Given the description of an element on the screen output the (x, y) to click on. 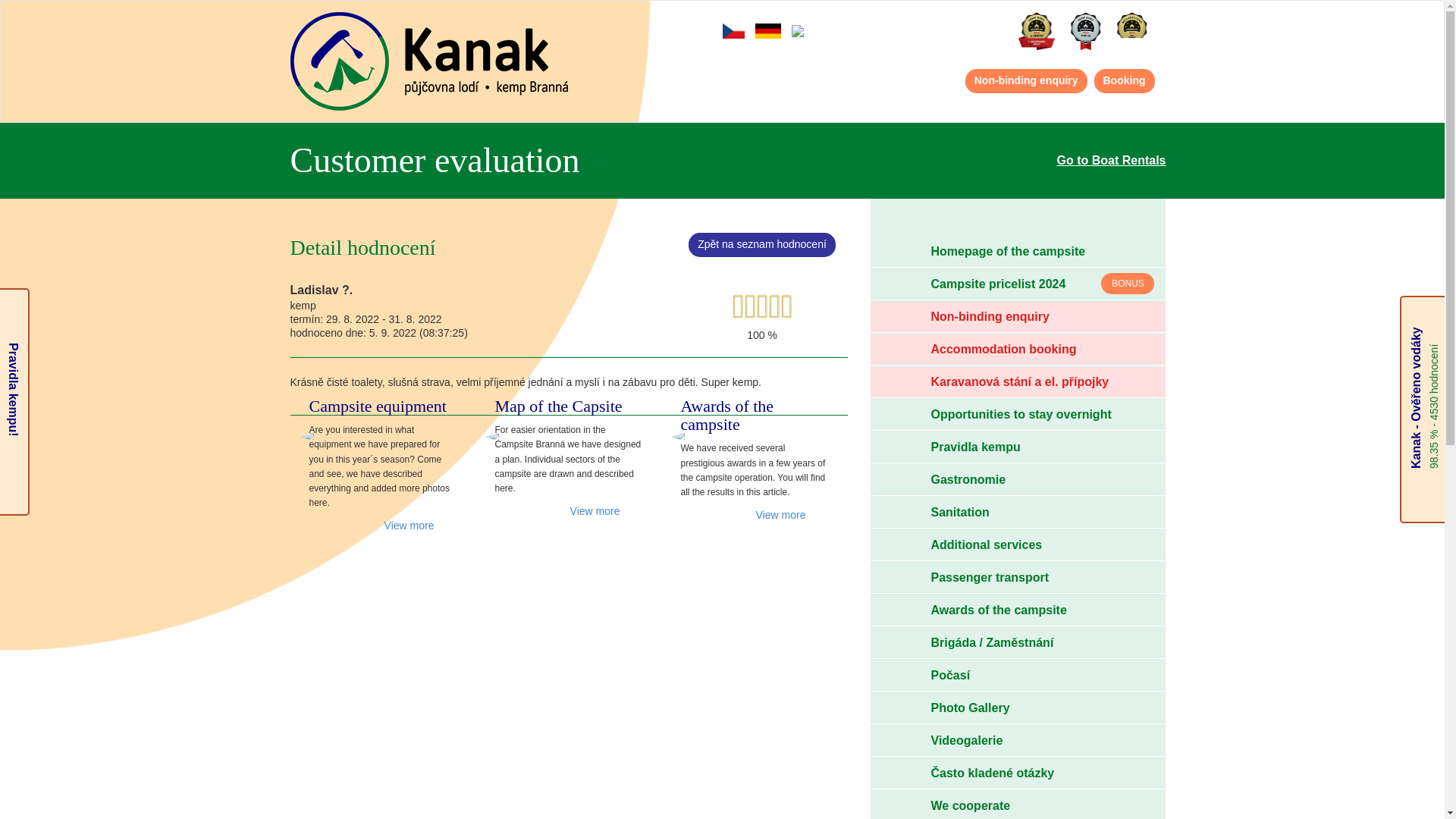
Homepage of the campsite (1018, 251)
Booking (1123, 80)
Homepage of the campsite (1018, 251)
We cooperate (1018, 805)
View more (606, 510)
Sanitation (1018, 512)
Videogalerie (1018, 740)
View more (420, 525)
View more (791, 514)
Go to Boat Rentals (1111, 160)
